Given the description of an element on the screen output the (x, y) to click on. 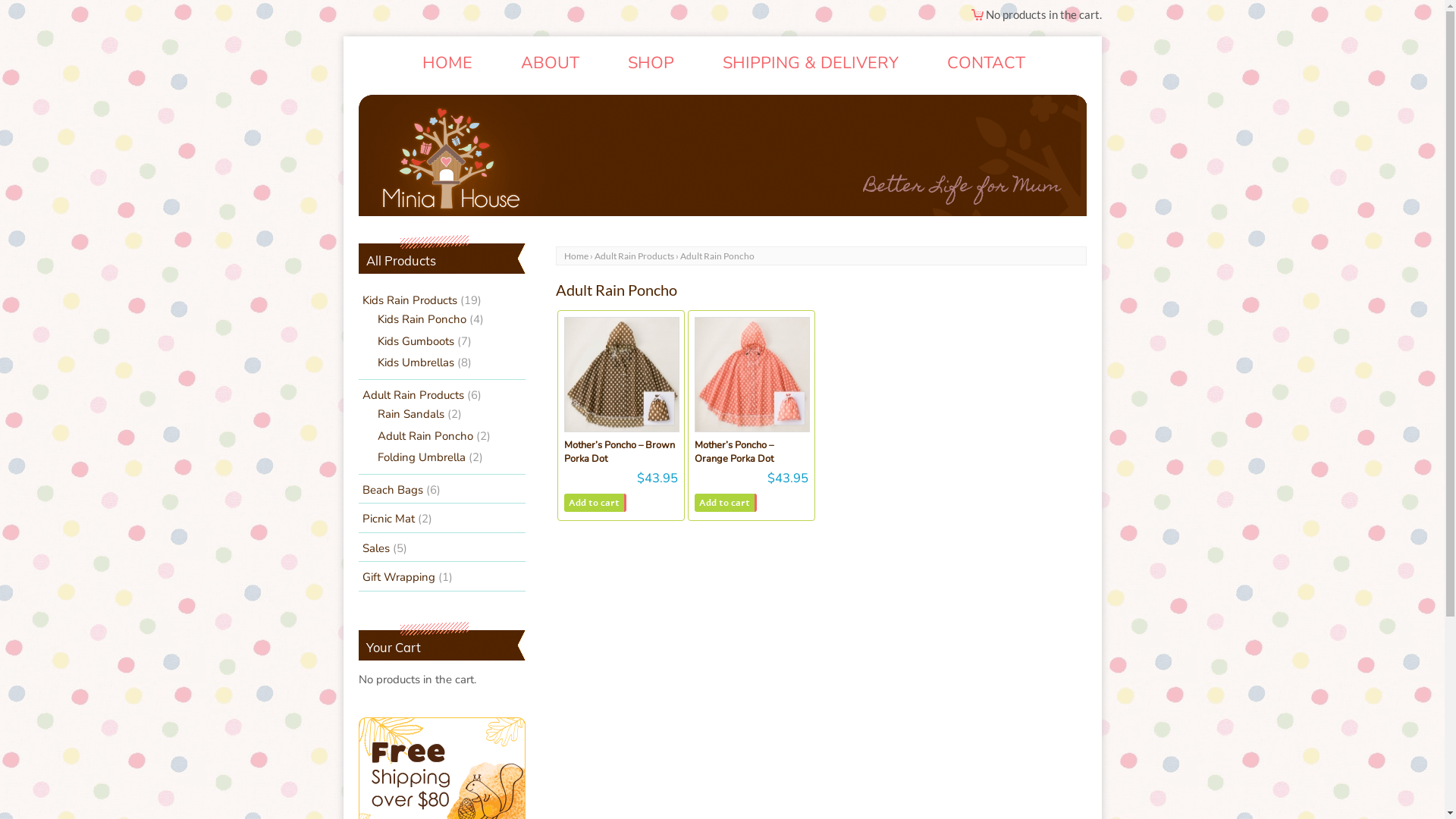
Kids Rain Products Element type: text (409, 299)
Gift Wrapping Element type: text (398, 576)
Rain Sandals Element type: text (410, 413)
SHIPPING & DELIVERY Element type: text (809, 63)
Adult Rain Products Element type: text (634, 255)
HOME Element type: text (446, 63)
Add to cart Element type: text (595, 502)
Home Element type: text (576, 255)
CONTACT Element type: text (985, 63)
Picnic Mat Element type: text (388, 518)
Sales Element type: text (375, 547)
Kids Rain Coats and Rain Gear | Minia House Element type: hover (721, 155)
Kids Rain Poncho Element type: text (421, 318)
Kids Gumboots Element type: text (415, 340)
Beach Bags Element type: text (392, 489)
Adult Rain Poncho Element type: text (425, 435)
Add to cart Element type: text (725, 502)
Folding Umbrella Element type: text (421, 456)
ABOUT Element type: text (548, 63)
SHOP Element type: text (650, 63)
Adult Rain Products Element type: text (413, 394)
Kids Umbrellas Element type: text (415, 362)
